Given the description of an element on the screen output the (x, y) to click on. 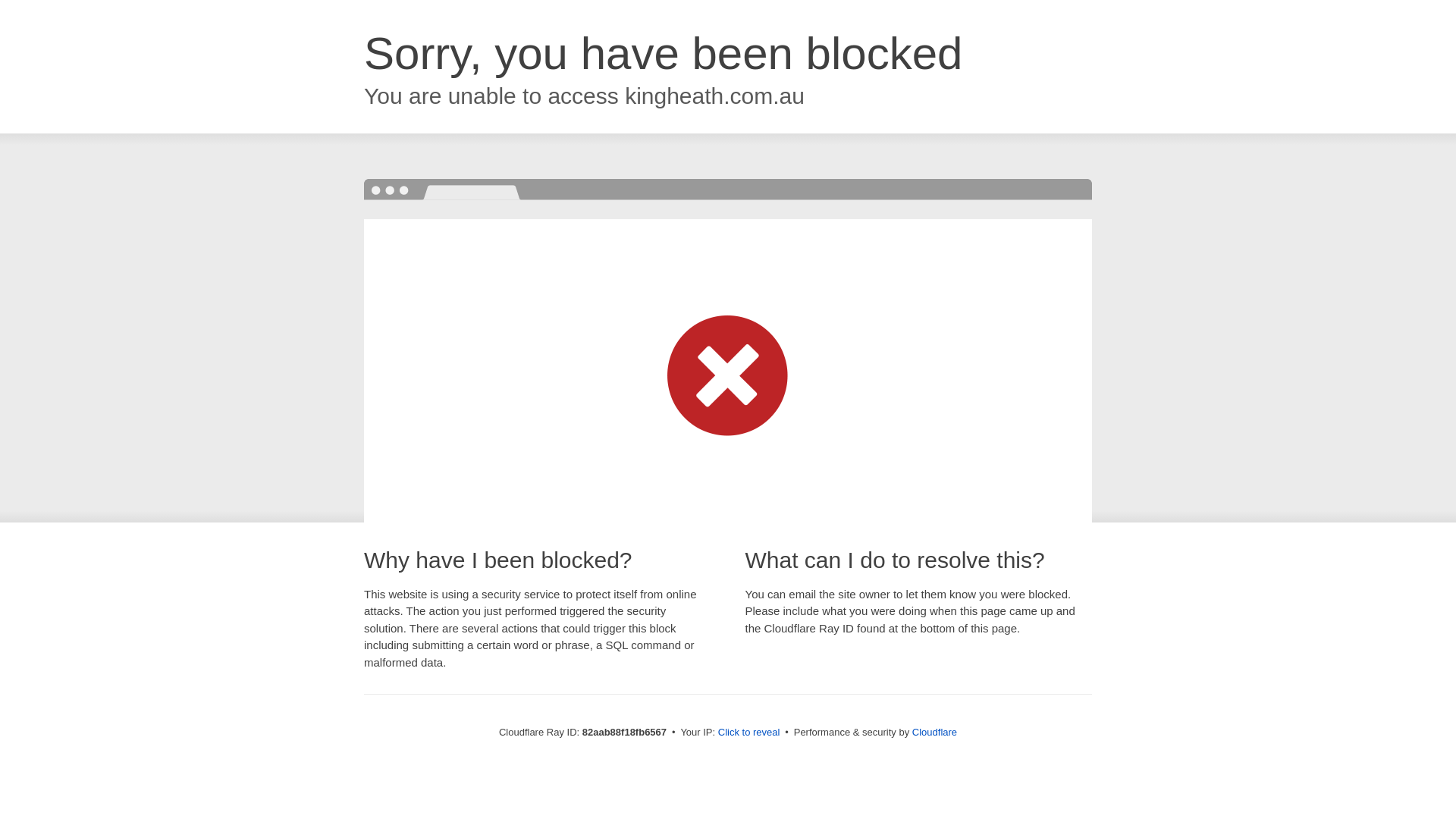
Click to reveal Element type: text (749, 732)
Cloudflare Element type: text (934, 731)
